Given the description of an element on the screen output the (x, y) to click on. 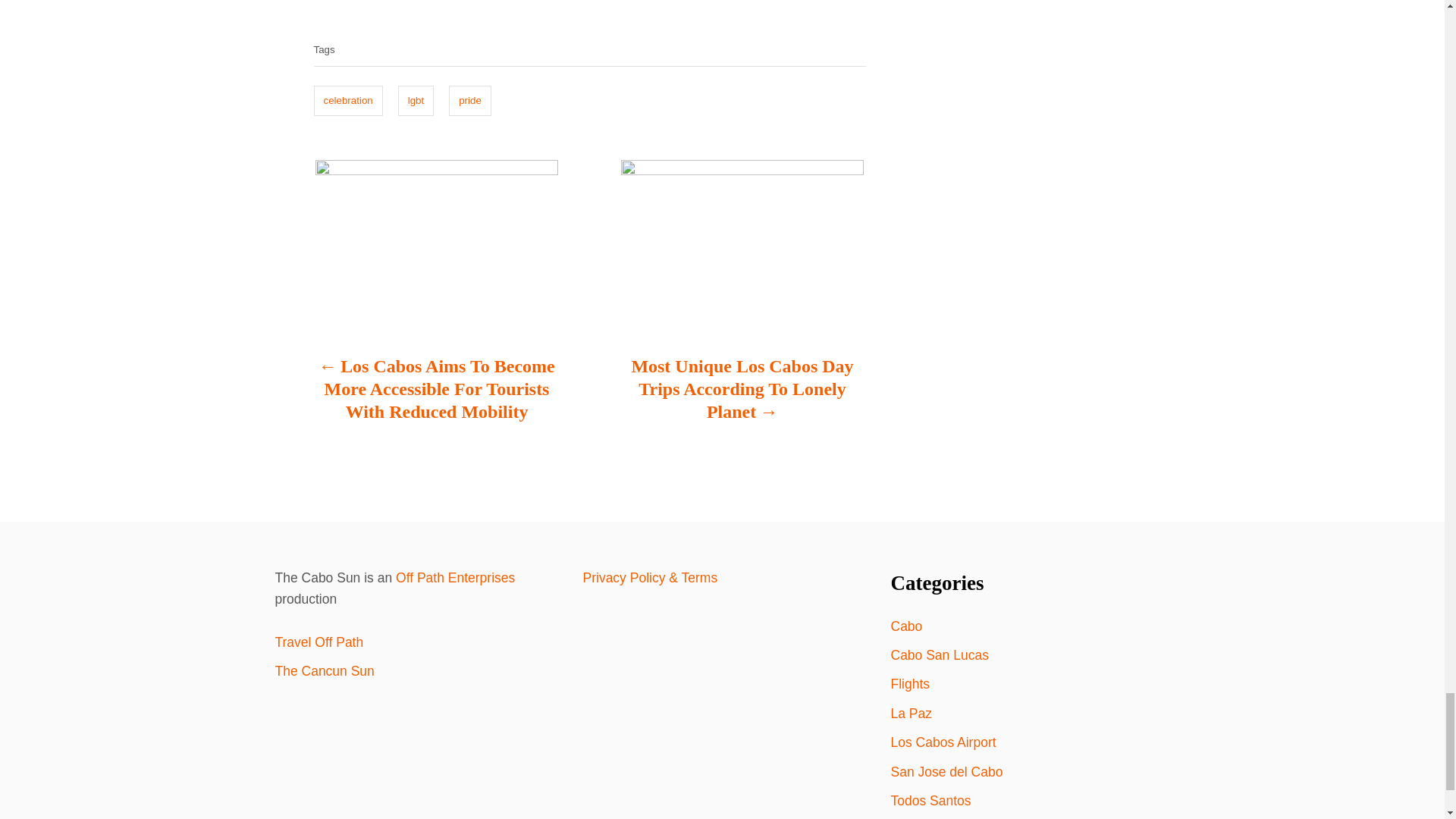
pride (470, 100)
Most Unique Los Cabos Day Trips According To Lonely Planet (741, 396)
celebration (348, 100)
lgbt (415, 100)
